Given the description of an element on the screen output the (x, y) to click on. 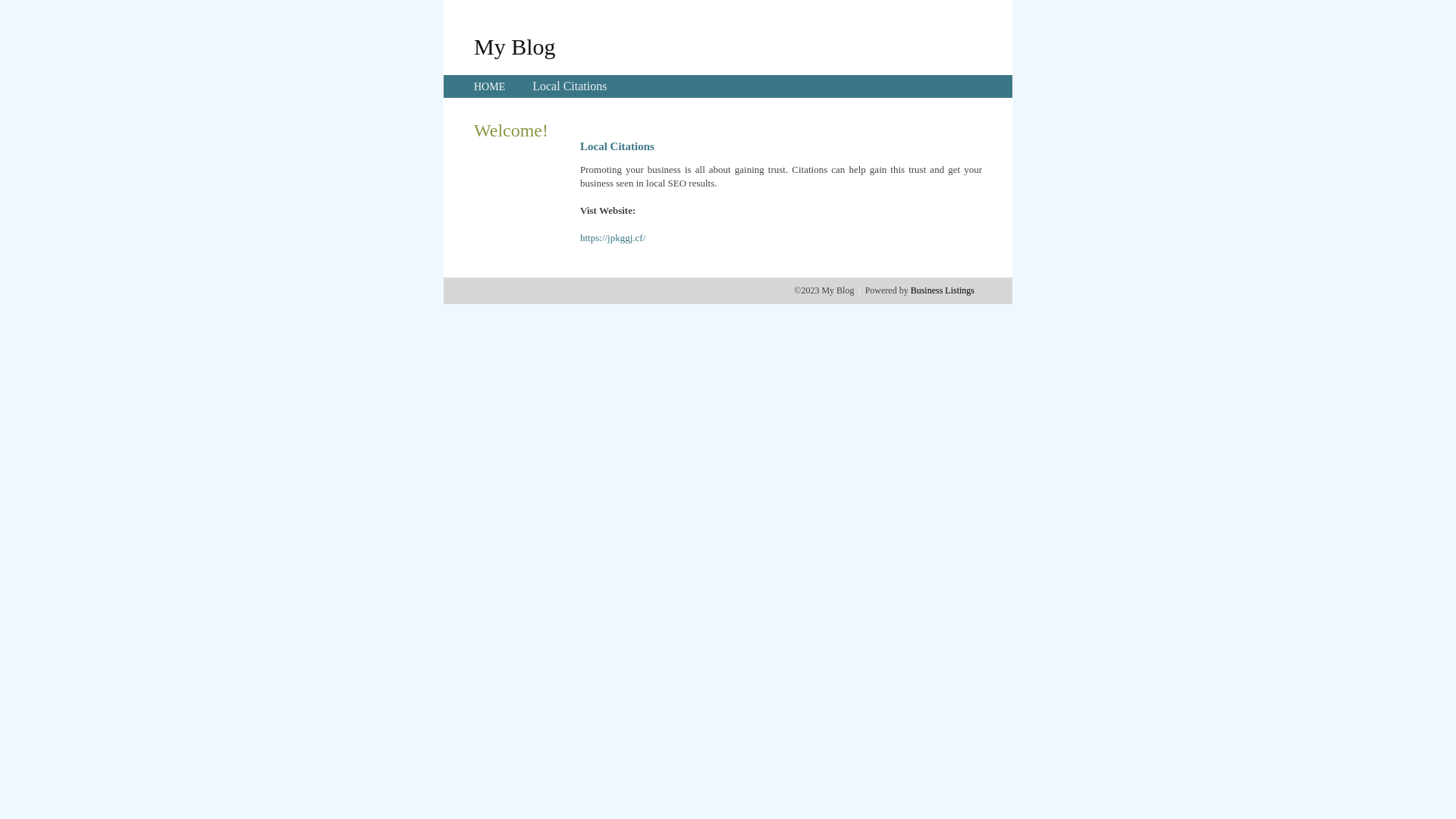
https://jpkggj.cf/ Element type: text (612, 237)
Local Citations Element type: text (569, 85)
HOME Element type: text (489, 86)
My Blog Element type: text (514, 46)
Business Listings Element type: text (942, 290)
